Given the description of an element on the screen output the (x, y) to click on. 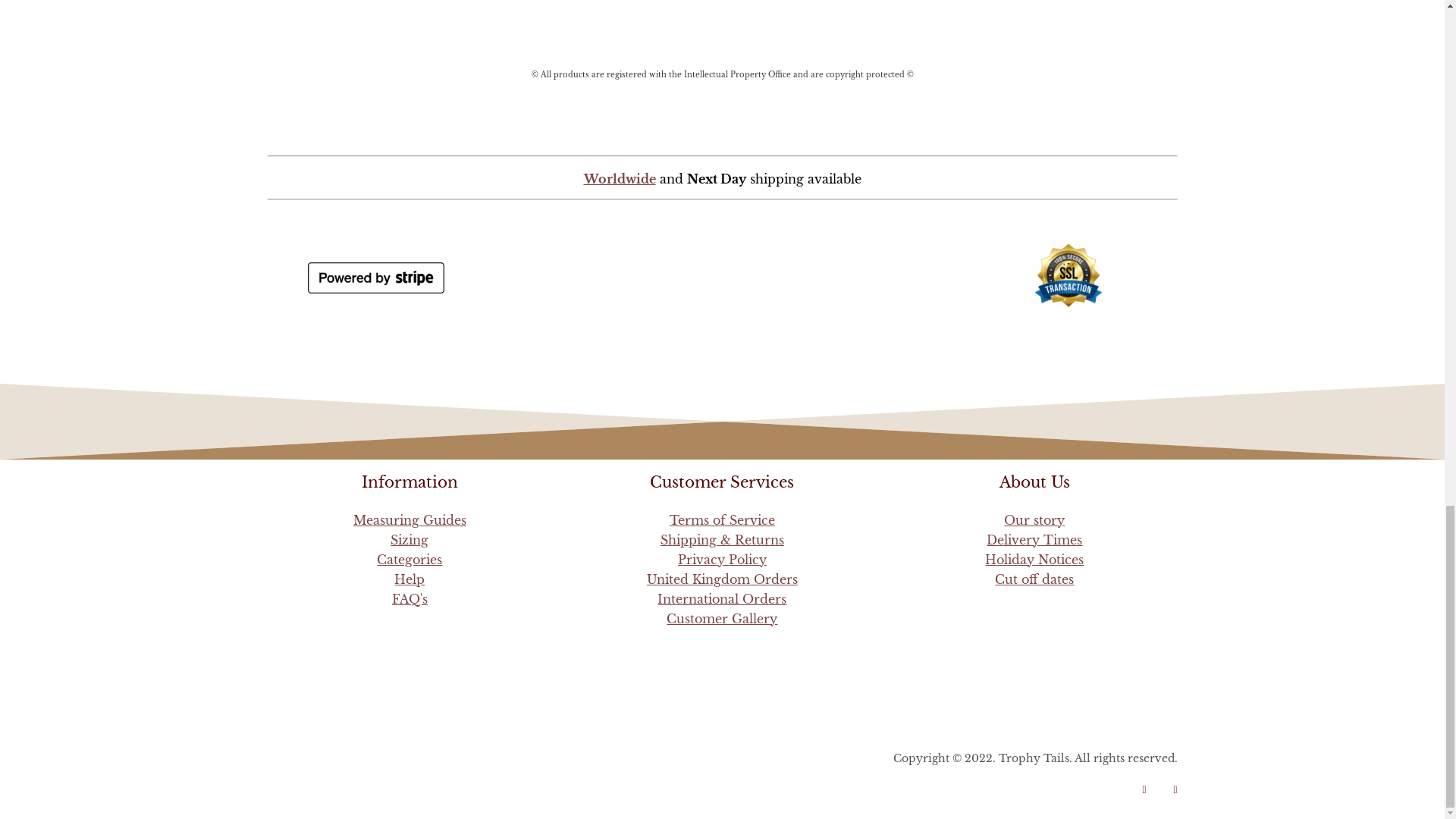
Help (409, 579)
Worldwide (721, 170)
Our story (1034, 519)
Privacy Policy (722, 559)
Customer Gallery (721, 618)
Delivery Times (1034, 539)
Terms of Service (721, 519)
Categories (409, 559)
Measuring Guides (409, 519)
Sizing (409, 539)
International Orders (722, 598)
Cut off dates (1034, 579)
FAQ's (409, 598)
United Kingdom Orders (721, 579)
Holiday Notices (1034, 559)
